Given the description of an element on the screen output the (x, y) to click on. 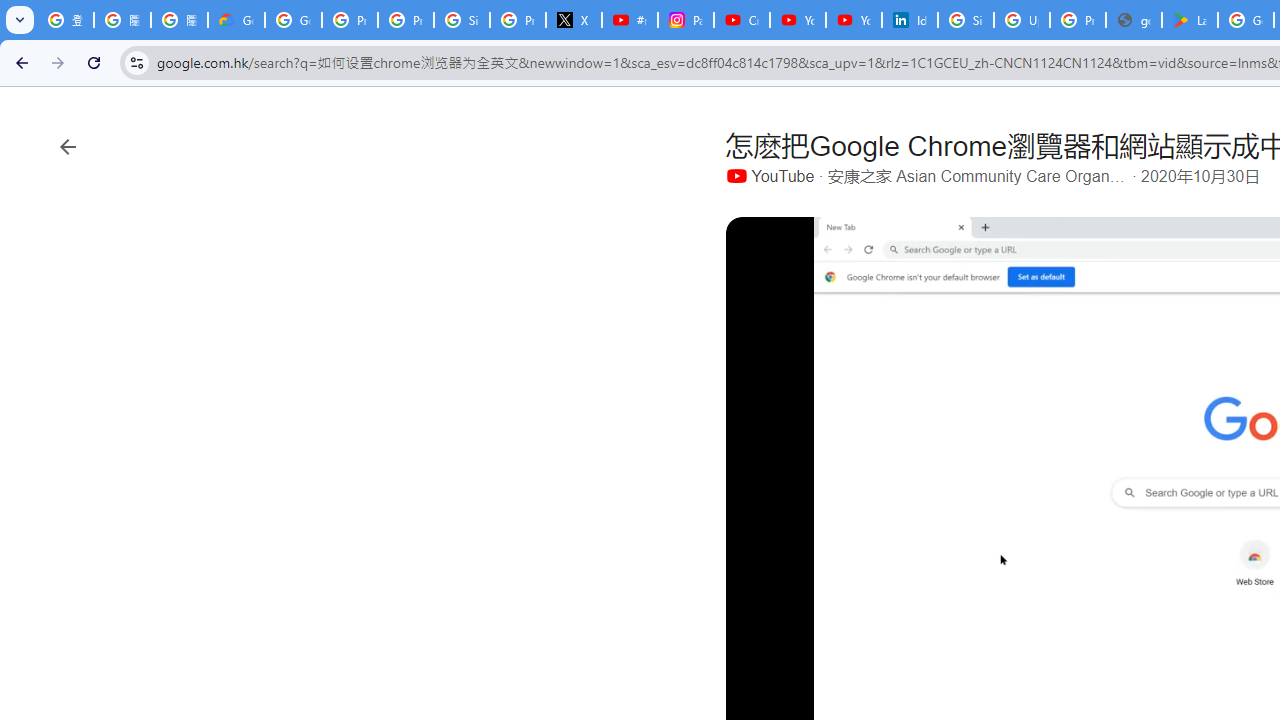
Privacy Help Center - Policies Help (405, 20)
#nbabasketballhighlights - YouTube (629, 20)
Last Shelter: Survival - Apps on Google Play (1190, 20)
X (573, 20)
Google Cloud Privacy Notice (235, 20)
YouTube Culture & Trends - YouTube Top 10, 2021 (853, 20)
